Given the description of an element on the screen output the (x, y) to click on. 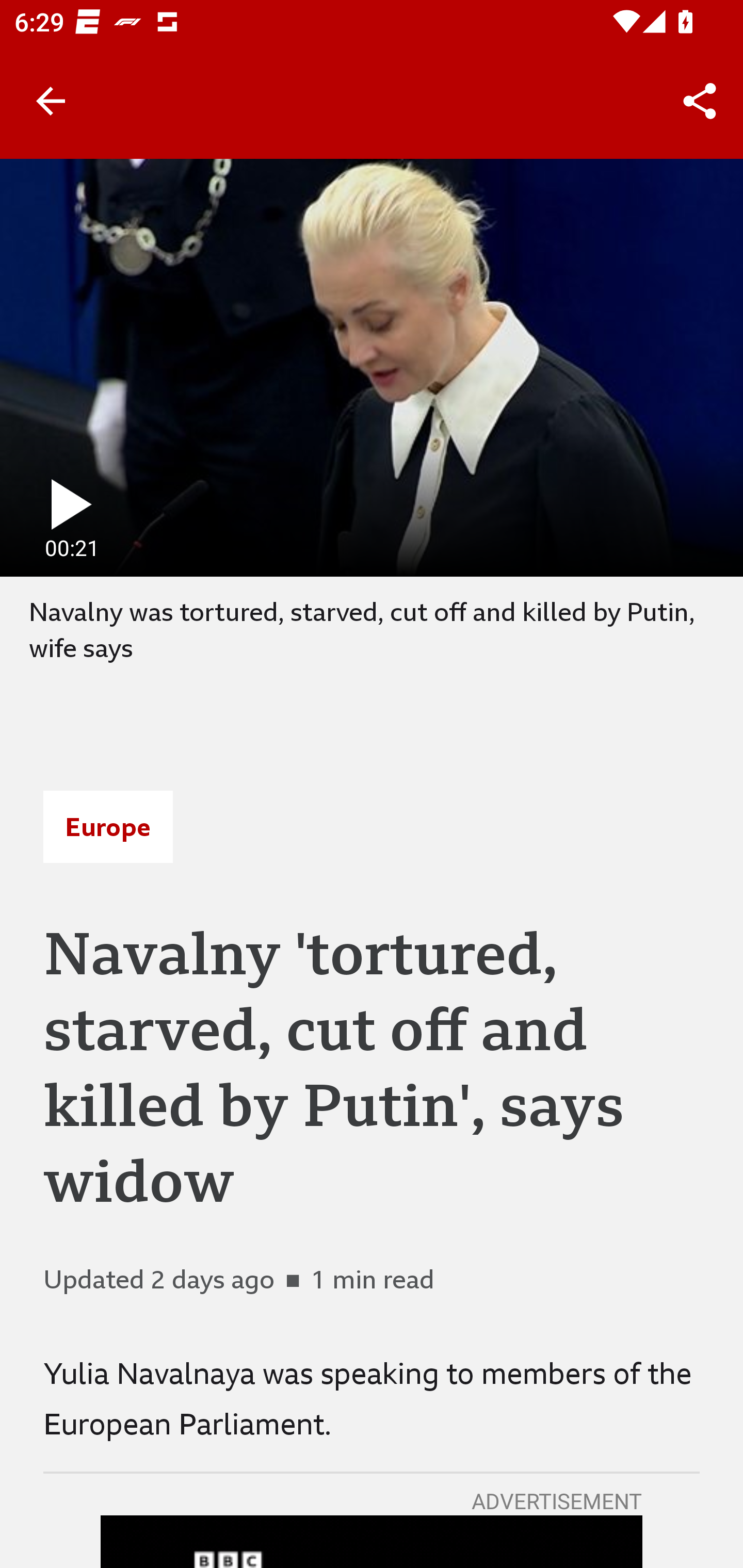
Back (50, 101)
Share (699, 101)
play fullscreen 00:21 0 minutes, 21 seconds (371, 367)
Europe (108, 827)
